Given the description of an element on the screen output the (x, y) to click on. 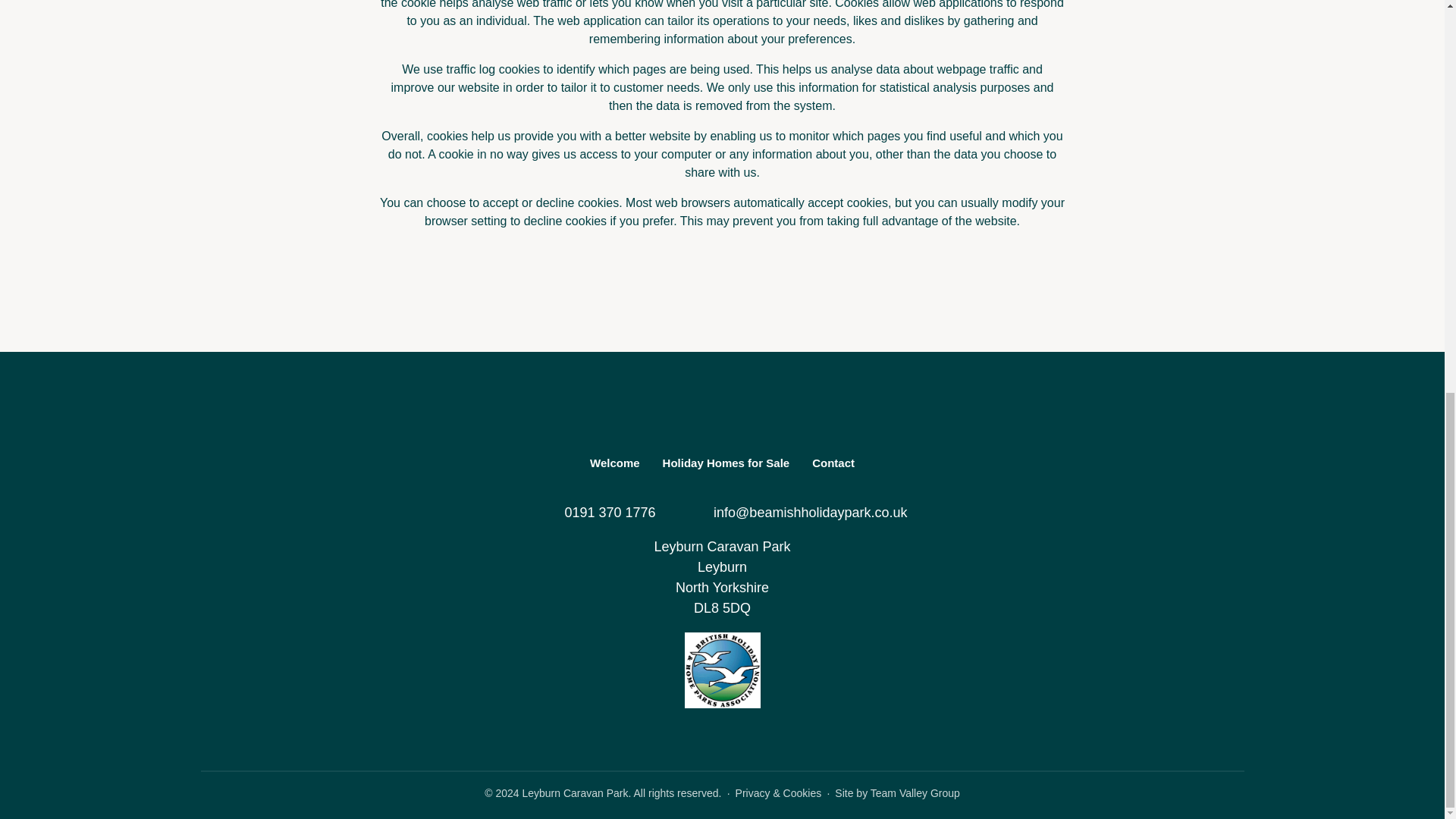
Team Valley Group (914, 793)
Holiday Homes for Sale (726, 463)
Leyburn Caravan Park (722, 409)
0191 370 1776 (596, 512)
Contact (833, 463)
Welcome (614, 463)
